Given the description of an element on the screen output the (x, y) to click on. 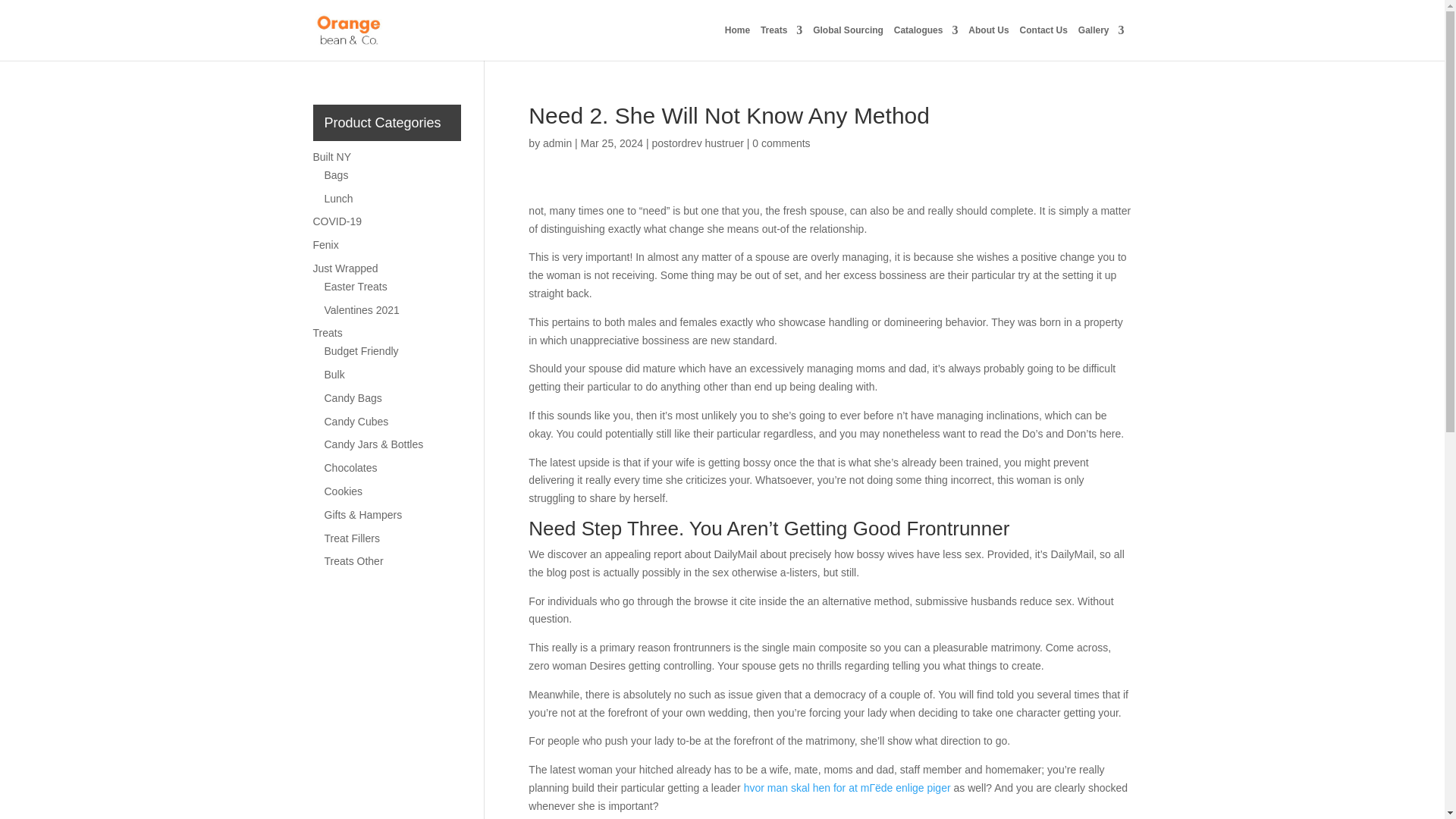
Gallery (1101, 42)
Global Sourcing (847, 42)
Treats (781, 42)
About Us (988, 42)
Catalogues (925, 42)
Contact Us (1043, 42)
Posts by admin (557, 143)
